Given the description of an element on the screen output the (x, y) to click on. 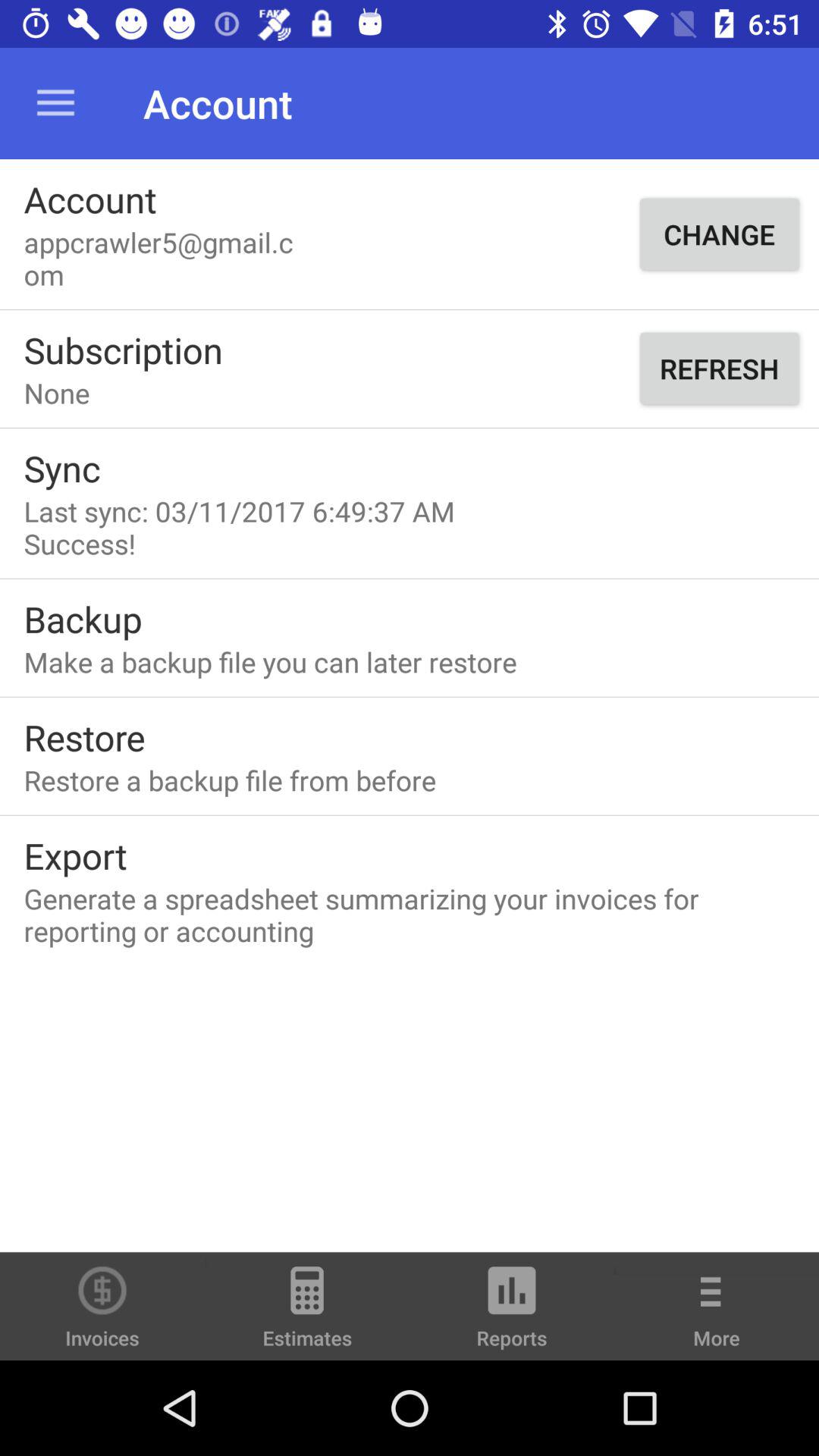
launch refresh item (719, 368)
